Given the description of an element on the screen output the (x, y) to click on. 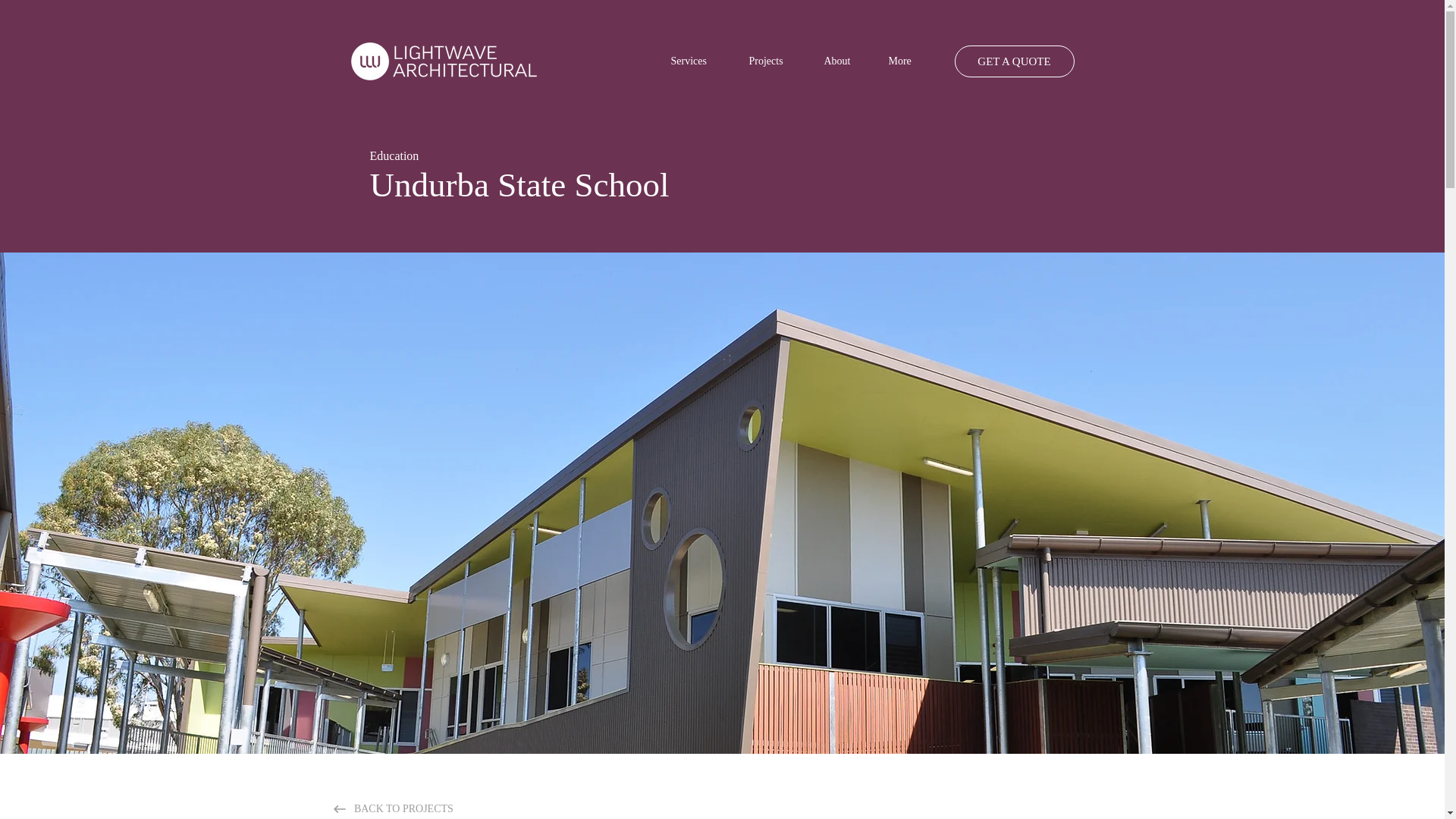
GET A QUOTE (1013, 60)
About (844, 60)
BACK TO PROJECTS (400, 806)
Projects (774, 60)
Services (698, 60)
